Given the description of an element on the screen output the (x, y) to click on. 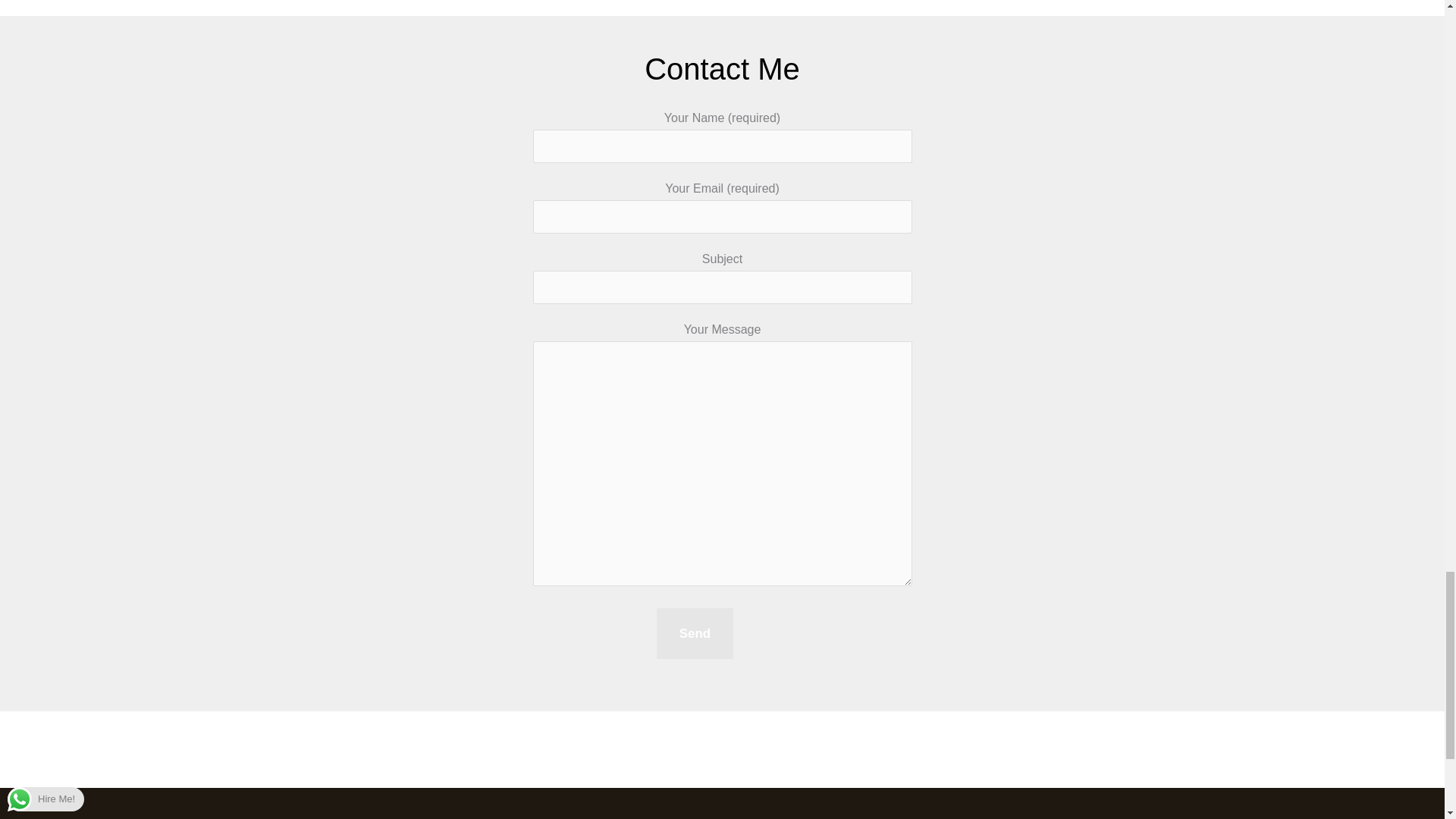
Send (694, 633)
Send (694, 633)
